Given the description of an element on the screen output the (x, y) to click on. 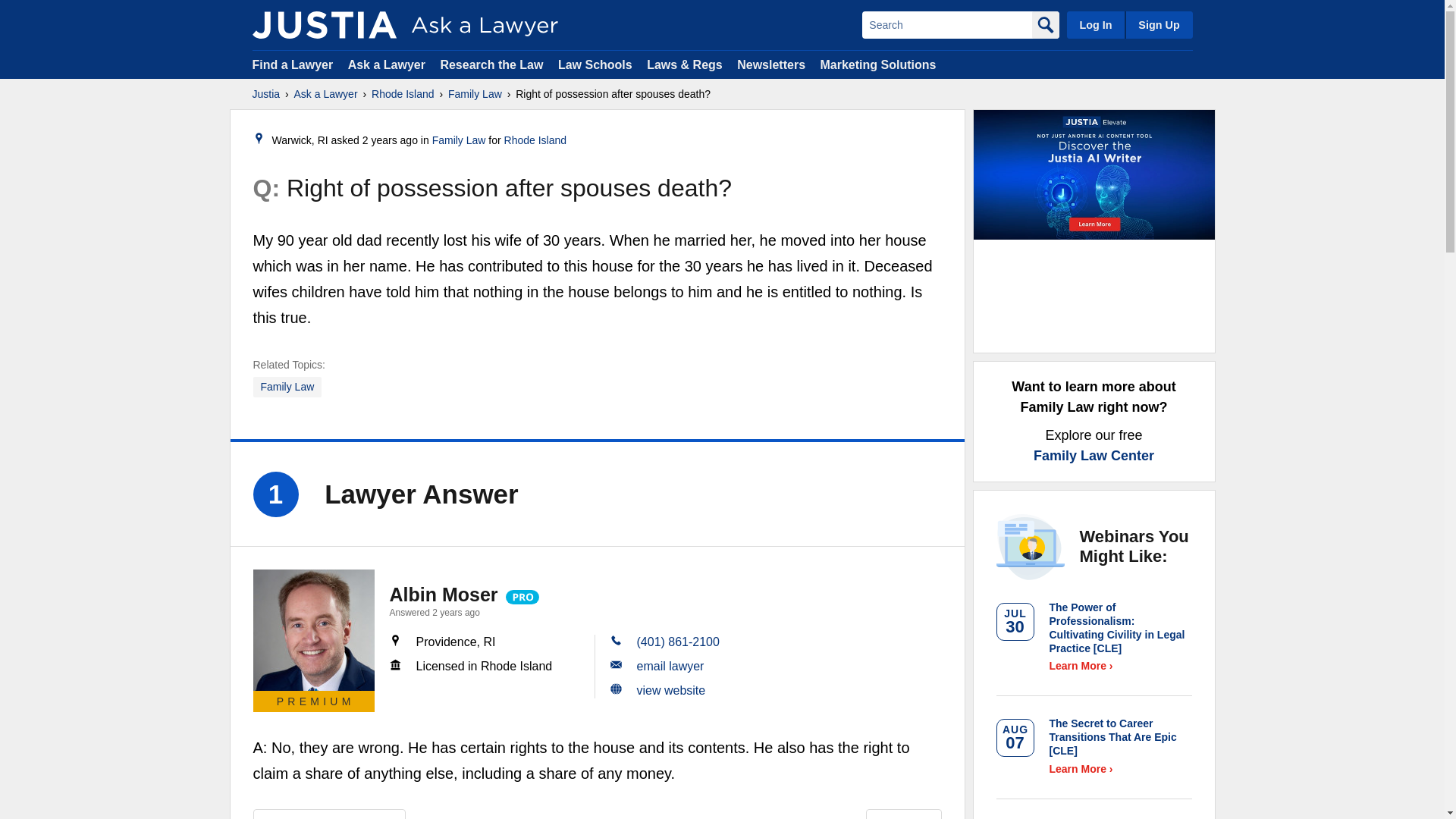
Sign Up (1158, 24)
Law Schools (594, 64)
Albin Moser (313, 630)
Search (945, 24)
Family Law (475, 93)
email lawyer (670, 666)
view website (671, 689)
2021-12-15T10:34:34-08:00 (389, 140)
Rhode Island (535, 140)
I agree with this answer (329, 814)
Ask a Lawyer (388, 64)
Marketing Solutions (877, 64)
Family Law (459, 140)
Research the Law (491, 64)
Find a Lawyer (292, 64)
